Given the description of an element on the screen output the (x, y) to click on. 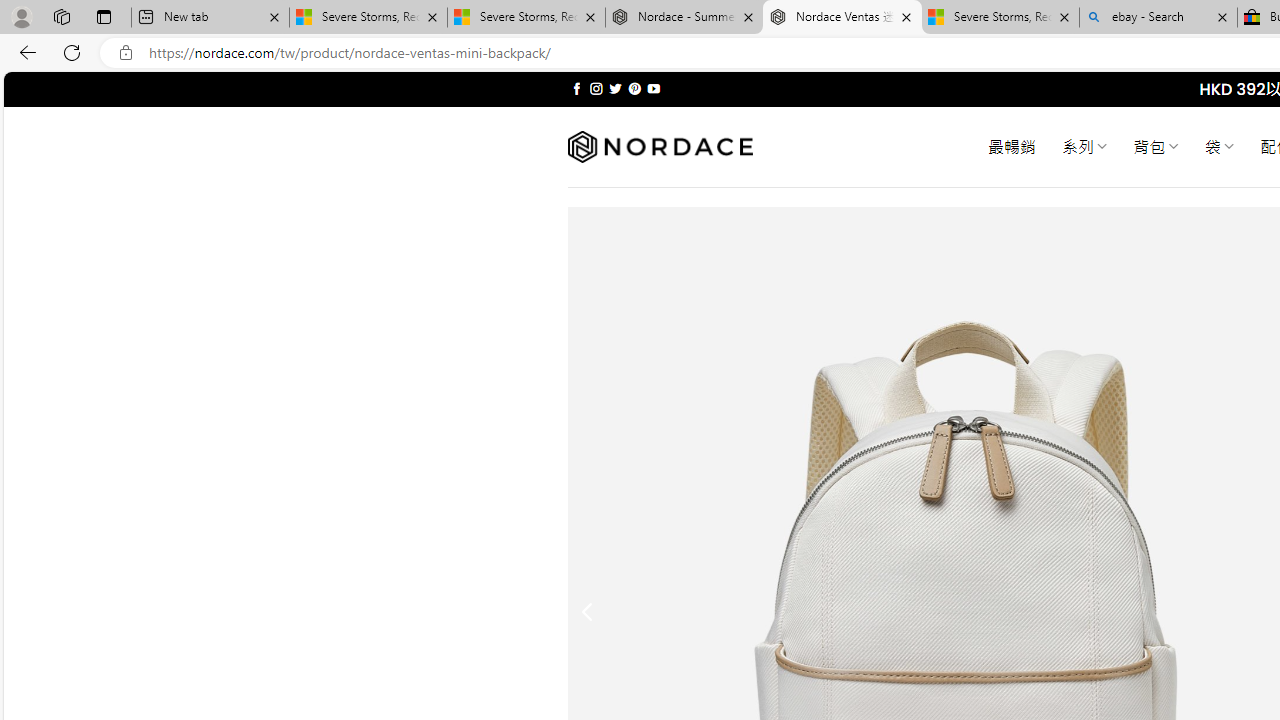
Follow on Facebook (576, 88)
Follow on YouTube (653, 88)
Follow on Pinterest (634, 88)
Follow on Twitter (615, 88)
